Given the description of an element on the screen output the (x, y) to click on. 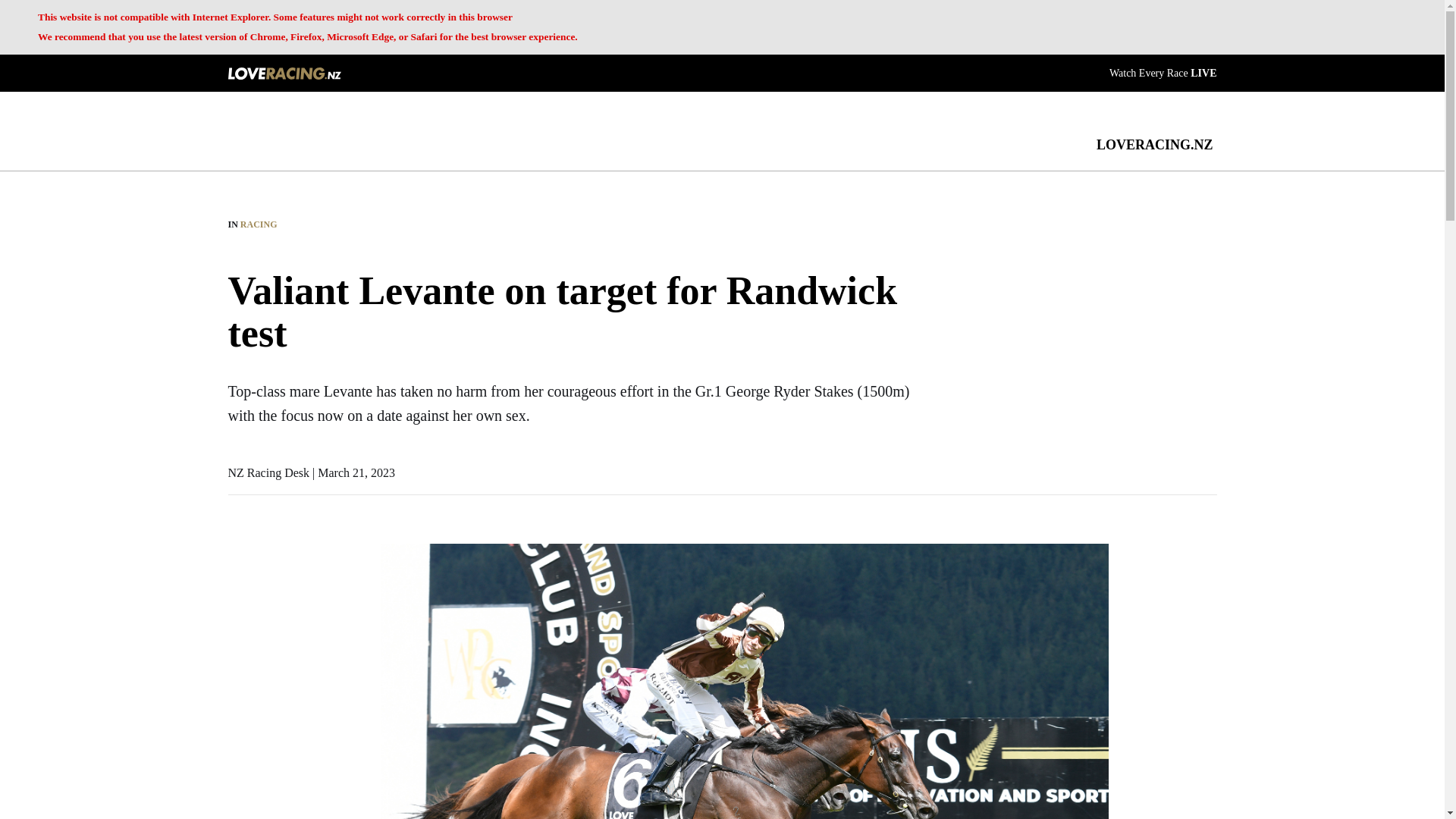
Watch Every Race LIVE (1163, 71)
Copy Copy article link to clipboard (235, 664)
RACING (259, 224)
Facebook Link to share article on Facebook (235, 550)
LinkedIn Link to share article on Twitter (235, 626)
LinkedIn Link to share article on Twitter (235, 626)
Twitter Link to share article on Twitter (235, 589)
Facebook Link to share article on Facebook (235, 550)
Twitter Link to share article on Twitter (235, 589)
Copy Copy article link to clipboard (235, 664)
LOVERACING.NZ (1154, 143)
